Given the description of an element on the screen output the (x, y) to click on. 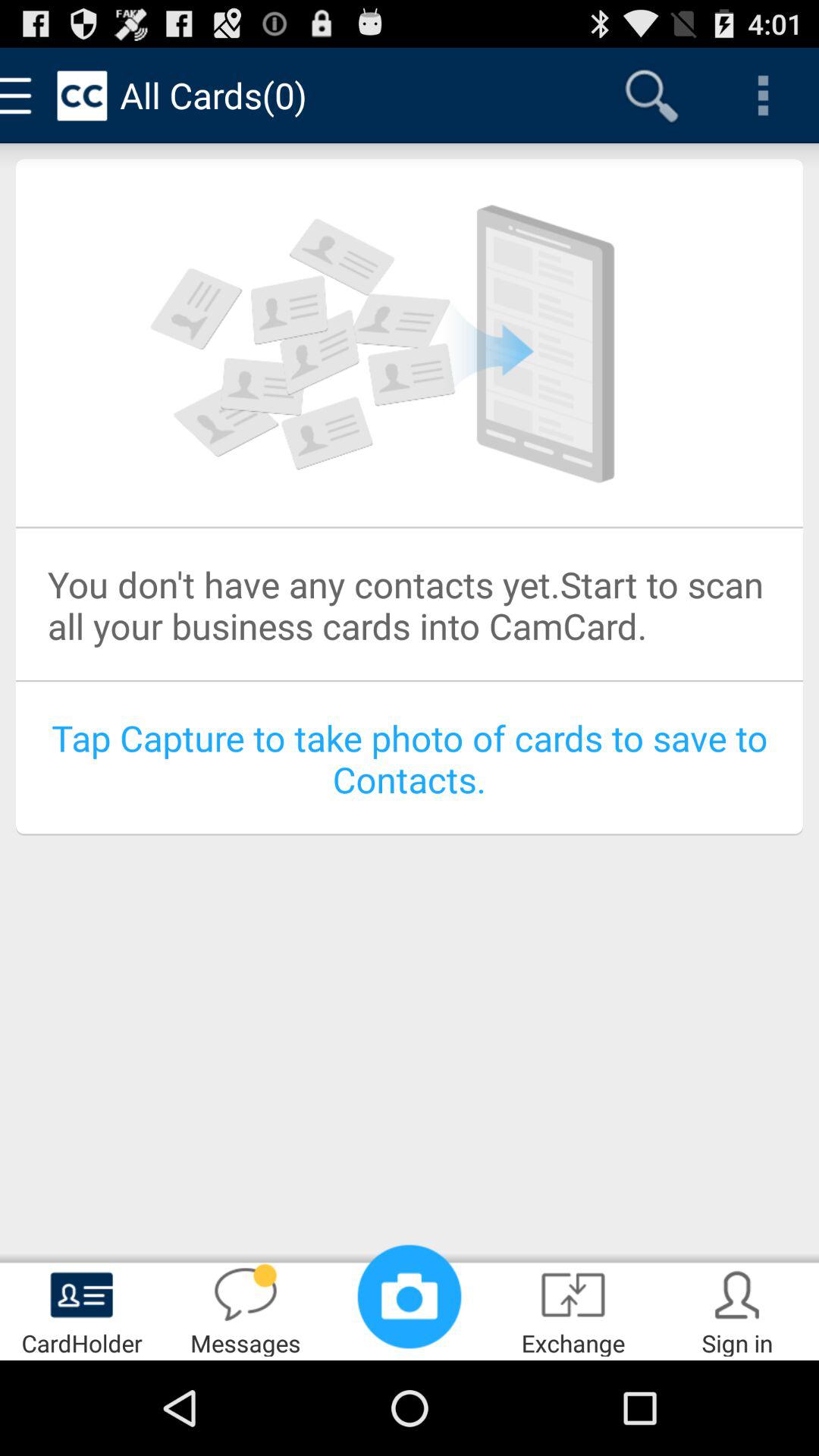
tap icon at the bottom (409, 1296)
